Given the description of an element on the screen output the (x, y) to click on. 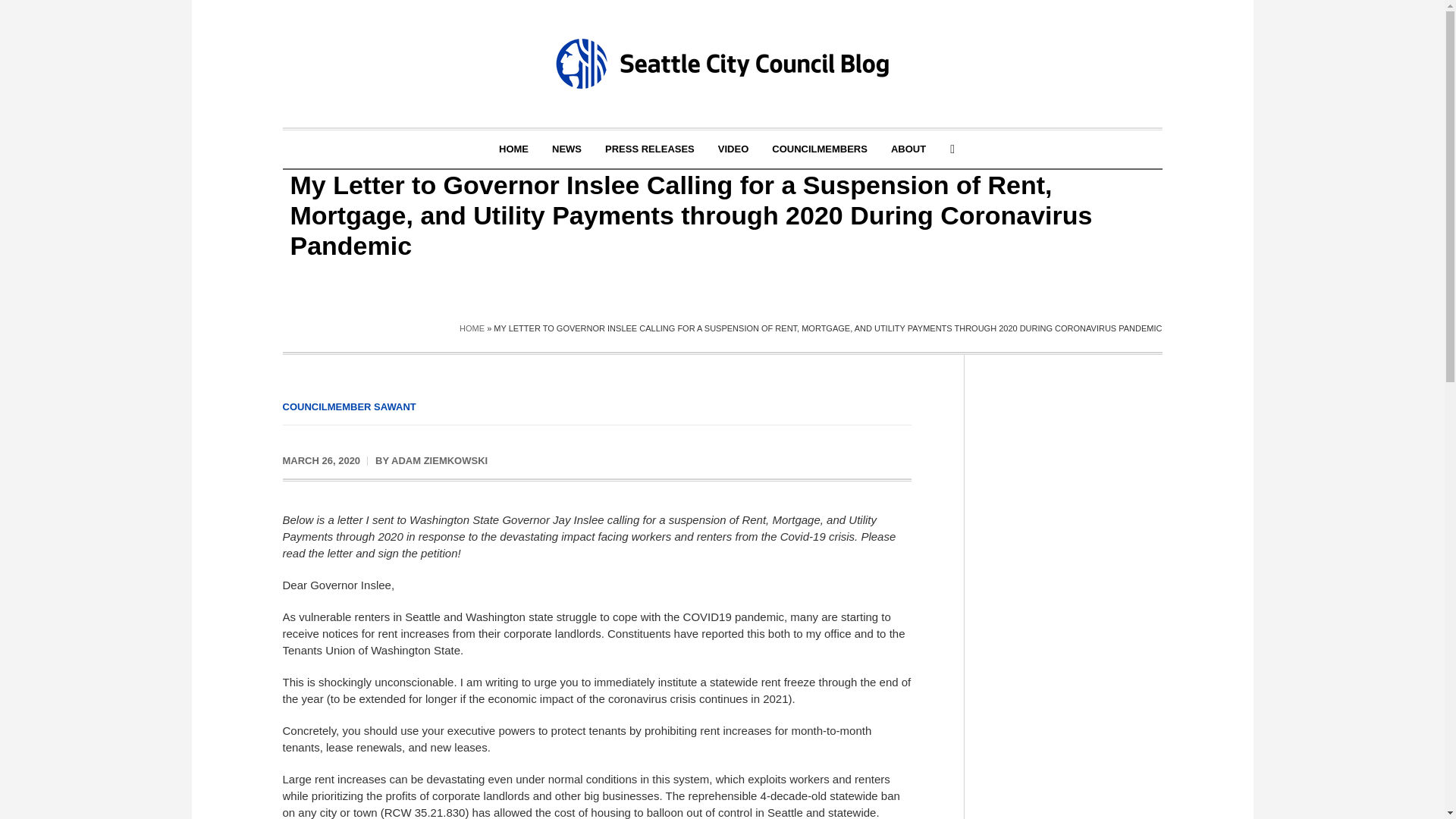
PRESS RELEASES (650, 149)
HOME (472, 327)
COUNCILMEMBER SAWANT (348, 406)
HOME (513, 149)
NEWS (566, 149)
Posts by Adam Ziemkowski (439, 460)
ABOUT (908, 149)
ADAM ZIEMKOWSKI (439, 460)
COUNCILMEMBERS (819, 149)
March 26, 2020 (320, 460)
